Given the description of an element on the screen output the (x, y) to click on. 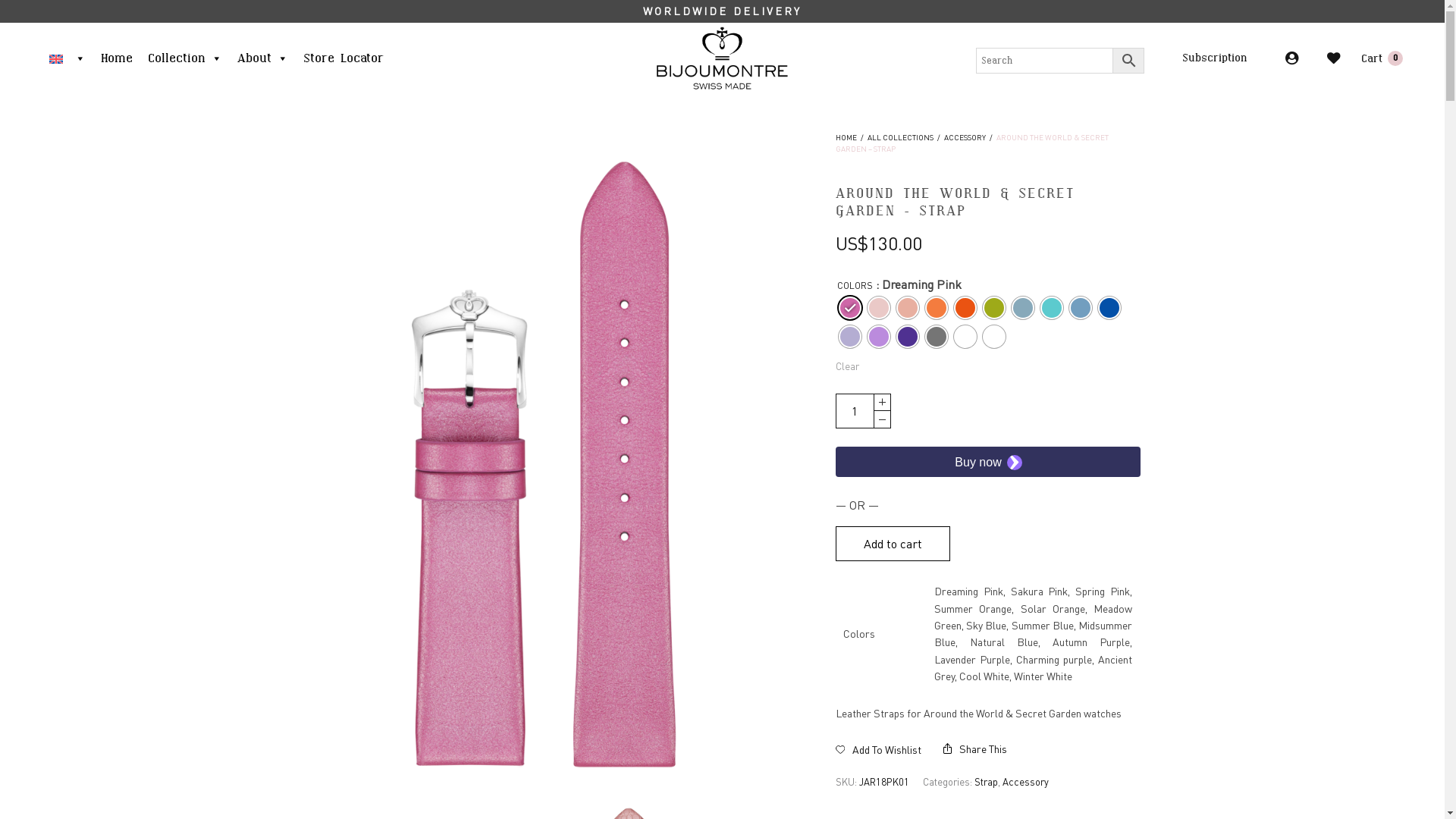
Lavender Purple Element type: hover (878, 336)
J031SSPKMW0-Strap-2500 Element type: hover (548, 457)
Cool White Element type: hover (964, 336)
Home Element type: text (116, 58)
Autumn Purple Element type: hover (849, 336)
Natural Blue Element type: hover (1109, 307)
ACCESSORY Element type: text (964, 136)
Sky Blue Element type: hover (1022, 307)
Subscription Element type: text (1214, 58)
Add To Wishlist Element type: text (878, 749)
Store Locator Element type: text (343, 58)
Share This Element type: text (975, 748)
Dreaming Pink Element type: hover (849, 307)
HOME Element type: text (845, 136)
Sakura Pink Element type: hover (878, 307)
Charming purple Element type: hover (907, 336)
Winter White Element type: hover (993, 336)
Add to cart Element type: text (892, 543)
Ancient Grey Element type: hover (936, 336)
Spring Pink Element type: hover (907, 307)
Collection Element type: text (184, 58)
Meadow Green Element type: hover (993, 307)
Strap Element type: text (985, 781)
Midsummer Blue Element type: hover (1080, 307)
Summer Orange Element type: hover (936, 307)
Accessory Element type: text (1025, 781)
ALL COLLECTIONS Element type: text (900, 136)
About Element type: text (262, 58)
Secure payment button frame Element type: hover (987, 461)
Solar Orange Element type: hover (964, 307)
Clear Element type: text (847, 365)
Cart
0 Element type: text (1381, 57)
Summer Blue Element type: hover (1051, 307)
